Given the description of an element on the screen output the (x, y) to click on. 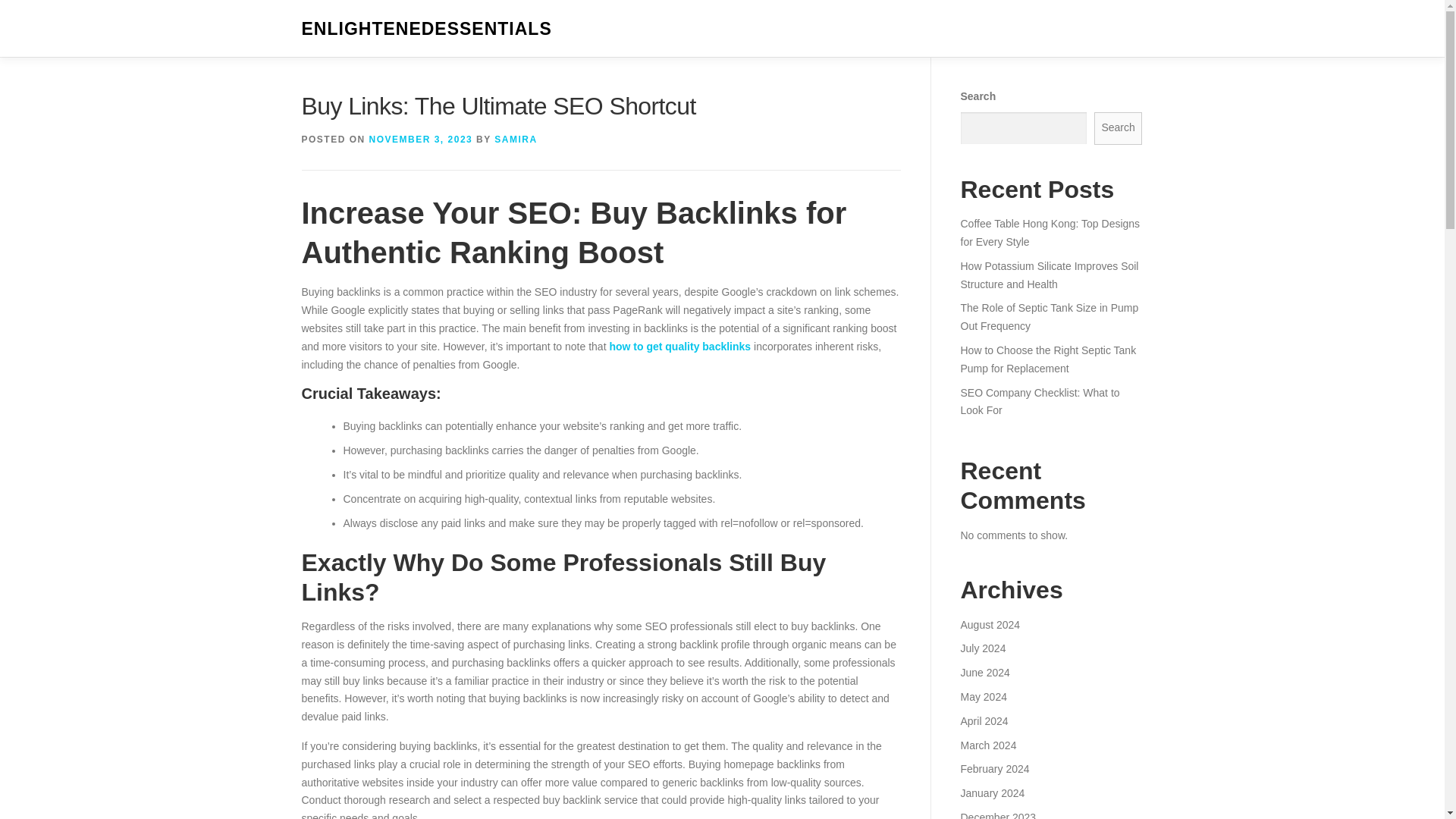
How to Choose the Right Septic Tank Pump for Replacement (1047, 358)
August 2024 (989, 624)
The Role of Septic Tank Size in Pump Out Frequency (1048, 317)
Search (1118, 128)
how to get quality backlinks (679, 346)
NOVEMBER 3, 2023 (421, 139)
January 2024 (992, 793)
May 2024 (982, 696)
June 2024 (984, 672)
February 2024 (994, 768)
